Given the description of an element on the screen output the (x, y) to click on. 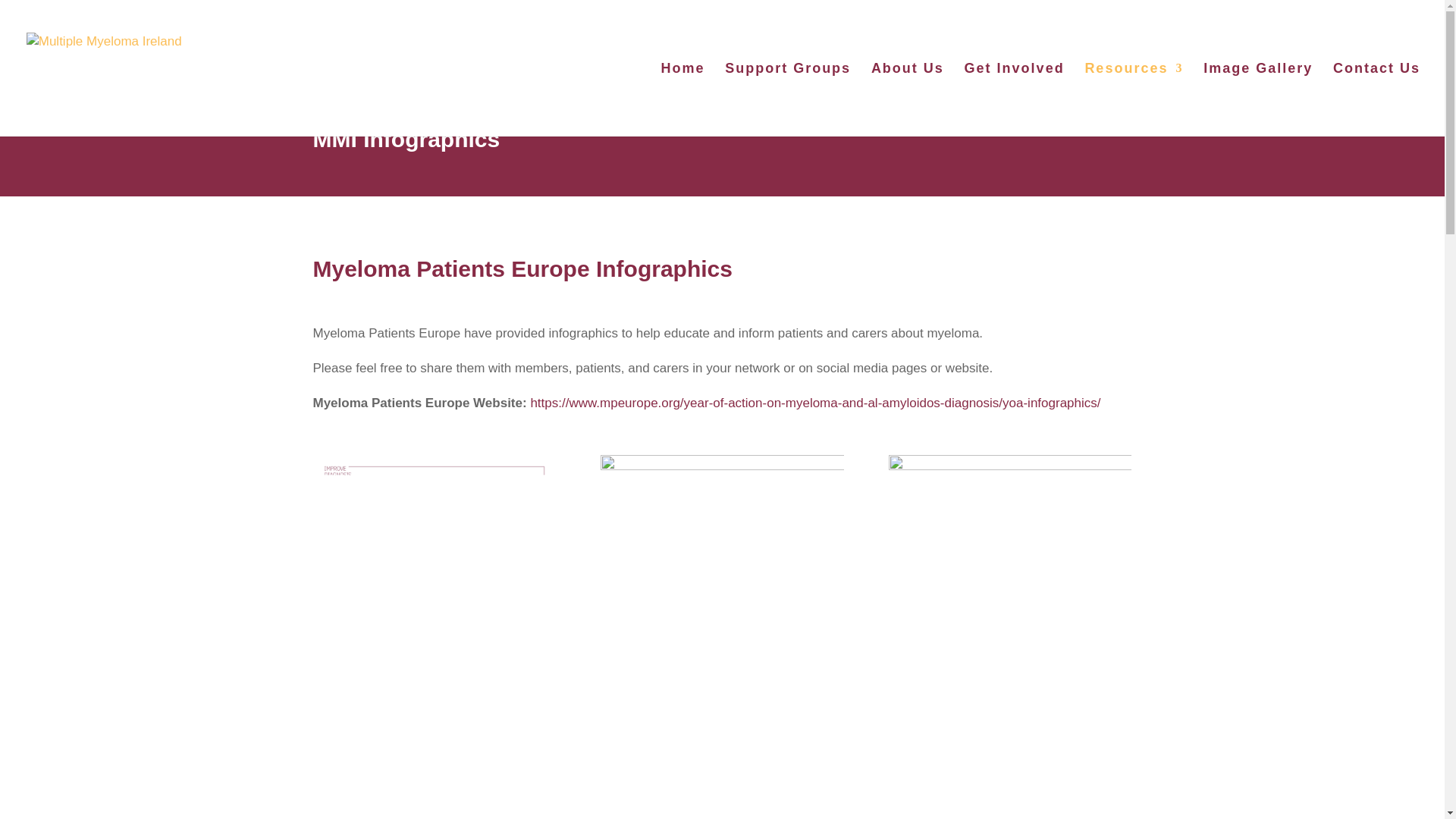
06825M1-3 (721, 626)
06799-Myeloma-PE-Symptom-Infographic-v5 (433, 626)
Support Groups (787, 99)
Resources (1133, 99)
Home (682, 99)
Get Involved (1013, 99)
About Us (906, 99)
Signs-of-Myeloma-1 (1009, 626)
Contact Us (1377, 99)
Image Gallery (1258, 99)
